Given the description of an element on the screen output the (x, y) to click on. 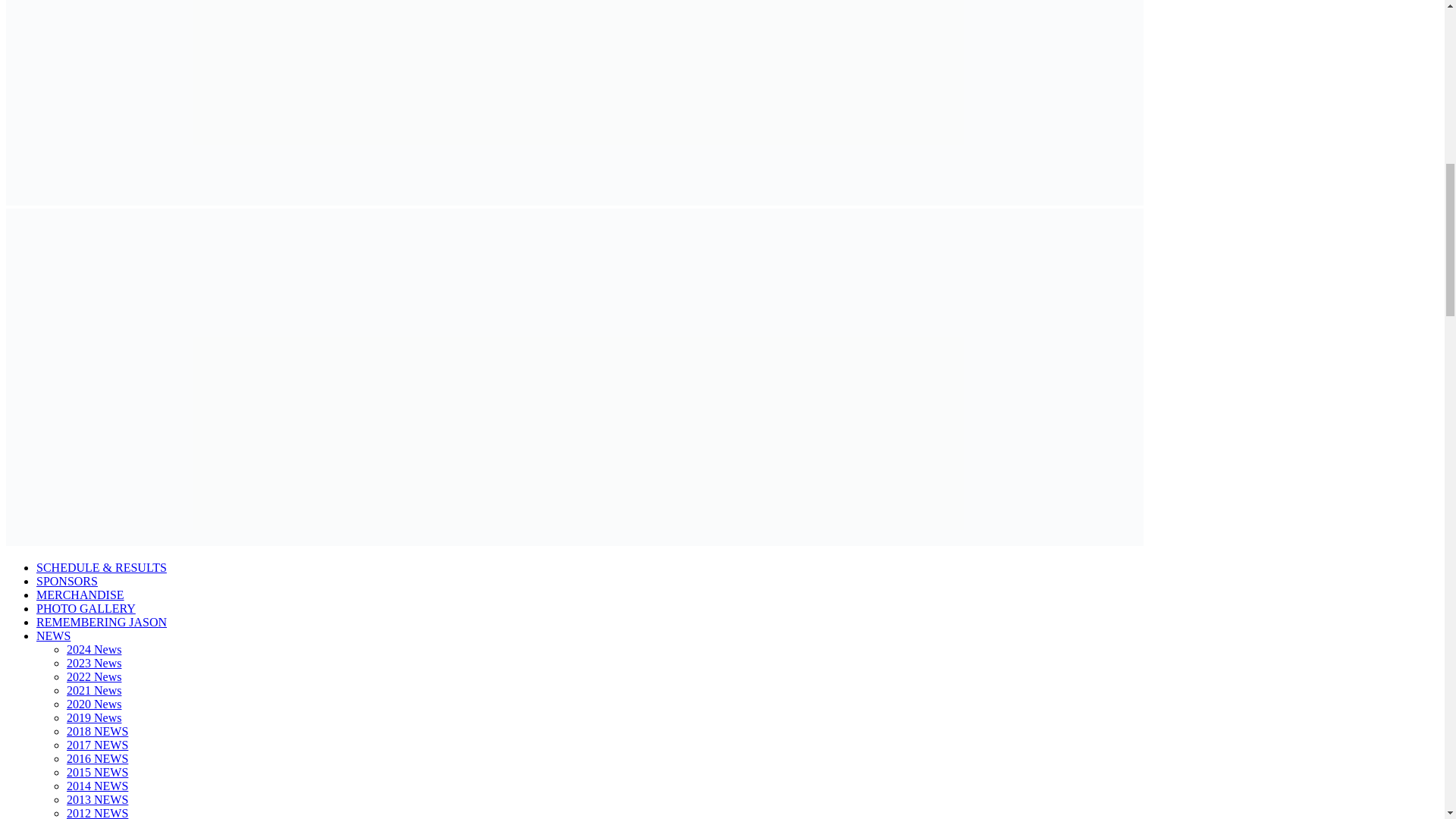
2013 NEWS (97, 799)
MERCHANDISE (79, 594)
2015 NEWS (97, 771)
2017 NEWS (97, 744)
SPONSORS (66, 581)
PHOTO GALLERY (85, 608)
2021 News (93, 689)
2019 News (93, 717)
2016 NEWS (97, 758)
